Given the description of an element on the screen output the (x, y) to click on. 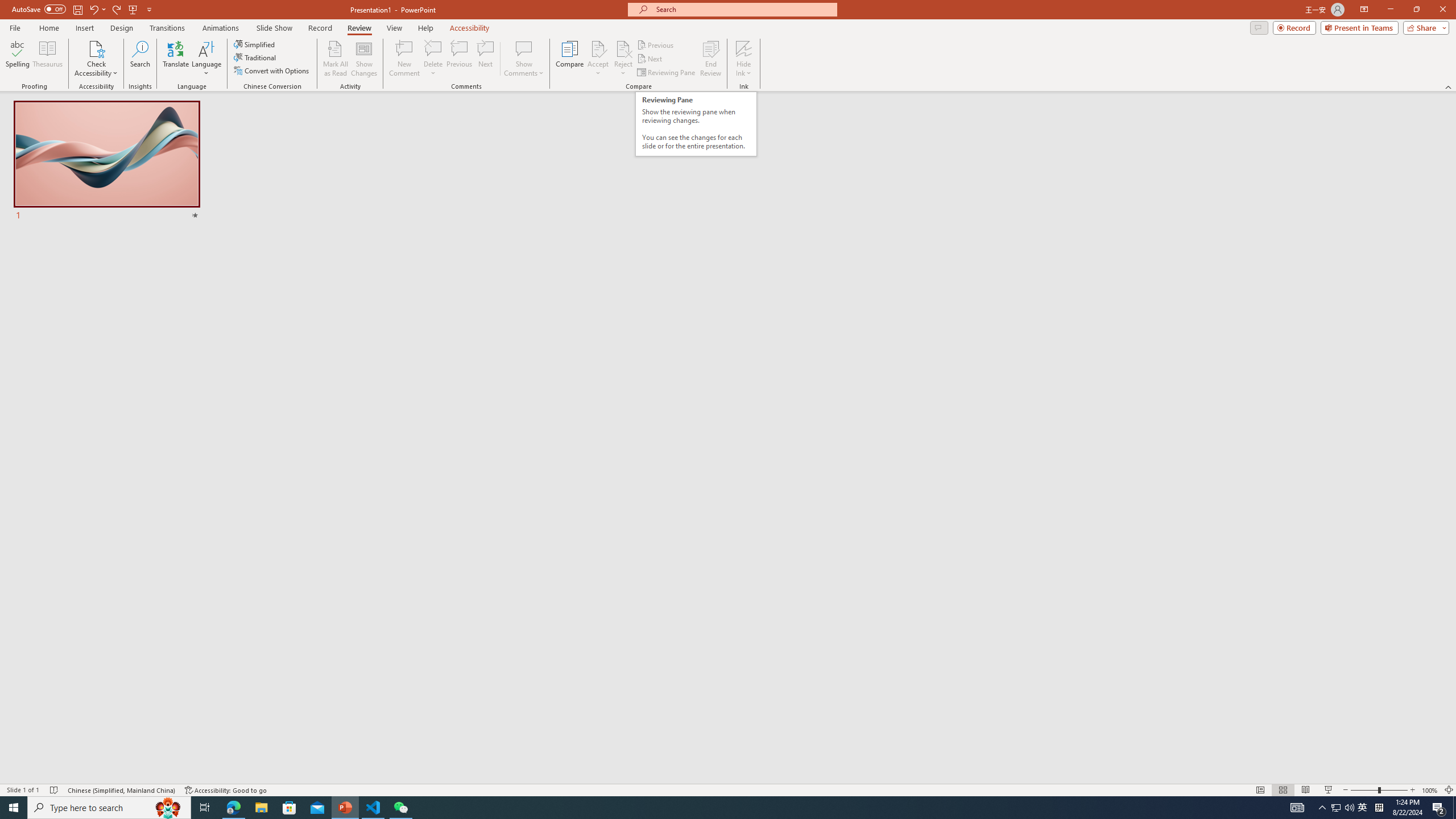
New Comment (403, 58)
Previous (655, 44)
Reject Change (622, 48)
Simplified (254, 44)
Language (206, 58)
Accept (598, 58)
